Given the description of an element on the screen output the (x, y) to click on. 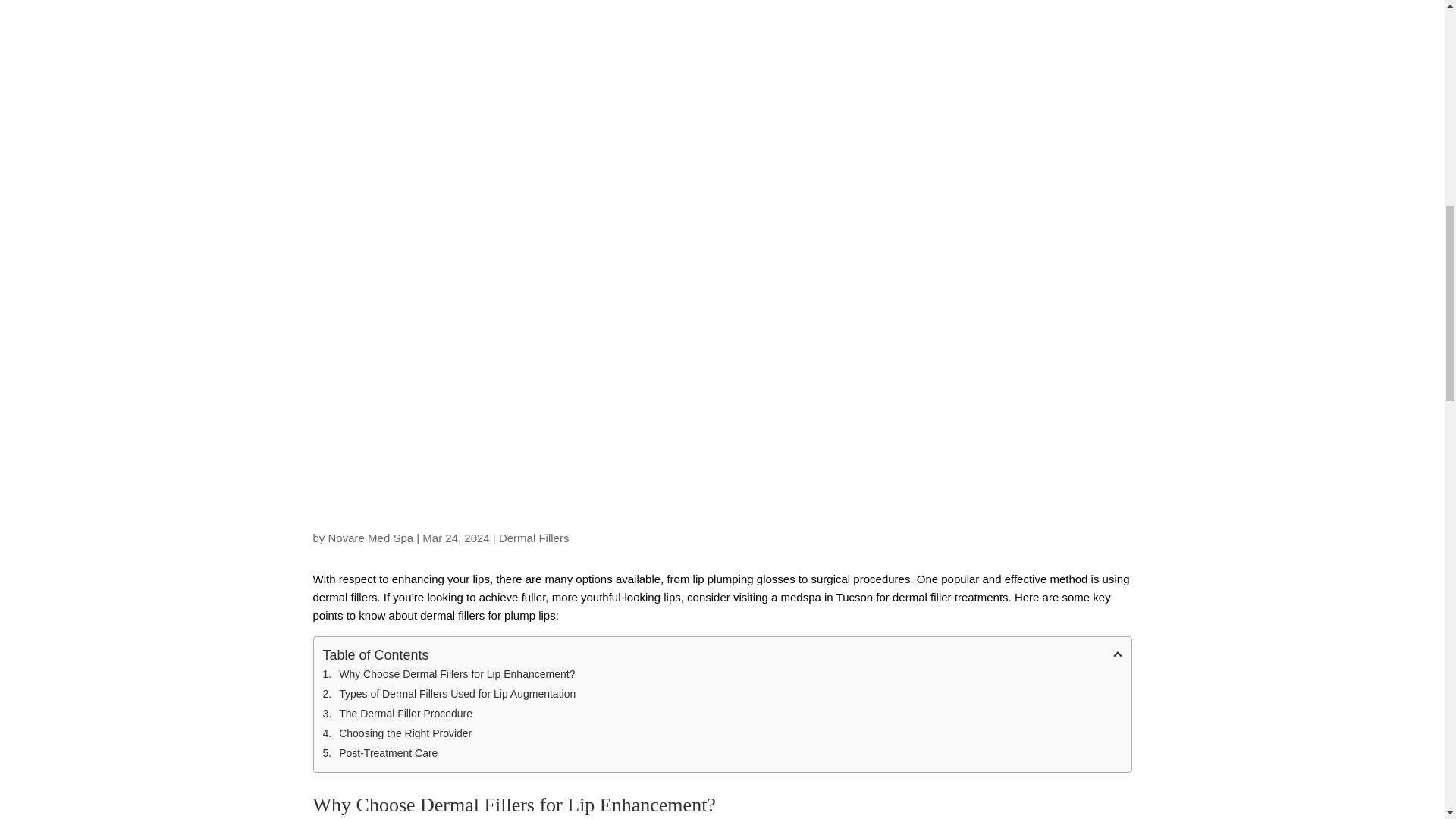
Post-Treatment Care (722, 752)
The Dermal Filler Procedure (722, 713)
Choosing the Right Provider (722, 732)
Types of Dermal Fillers Used for Lip Augmentation (722, 693)
Why Choose Dermal Fillers for Lip Enhancement? (722, 673)
Novare Med Spa (371, 537)
Dermal Fillers (534, 537)
Posts by Novare Med Spa (371, 537)
